Given the description of an element on the screen output the (x, y) to click on. 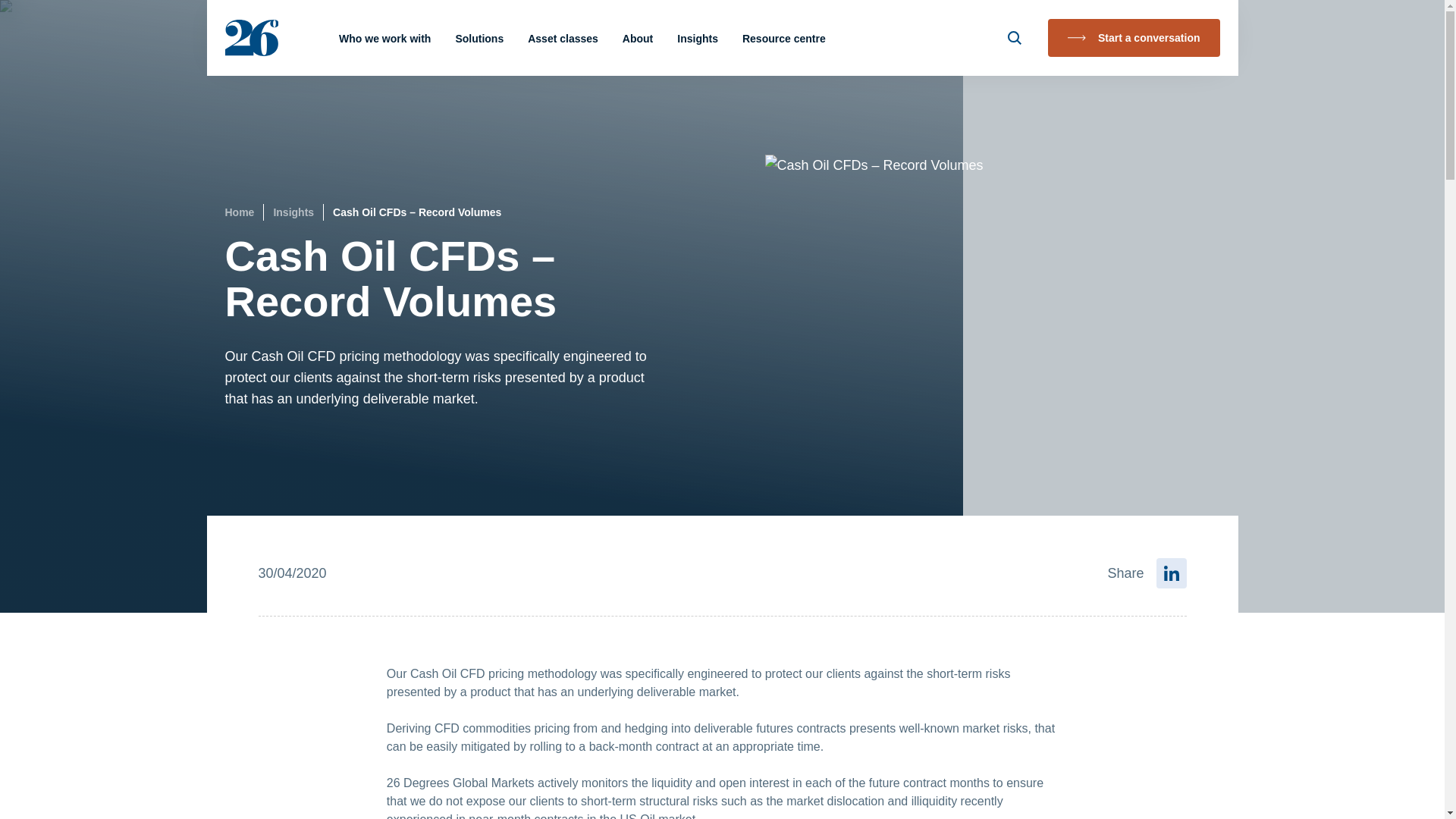
linkedin (1171, 572)
Solutions (478, 37)
Who we work with (384, 37)
26 Degrees (251, 37)
search (1014, 37)
Resource centre (783, 37)
Asset classes (562, 37)
Insights (697, 37)
